Given the description of an element on the screen output the (x, y) to click on. 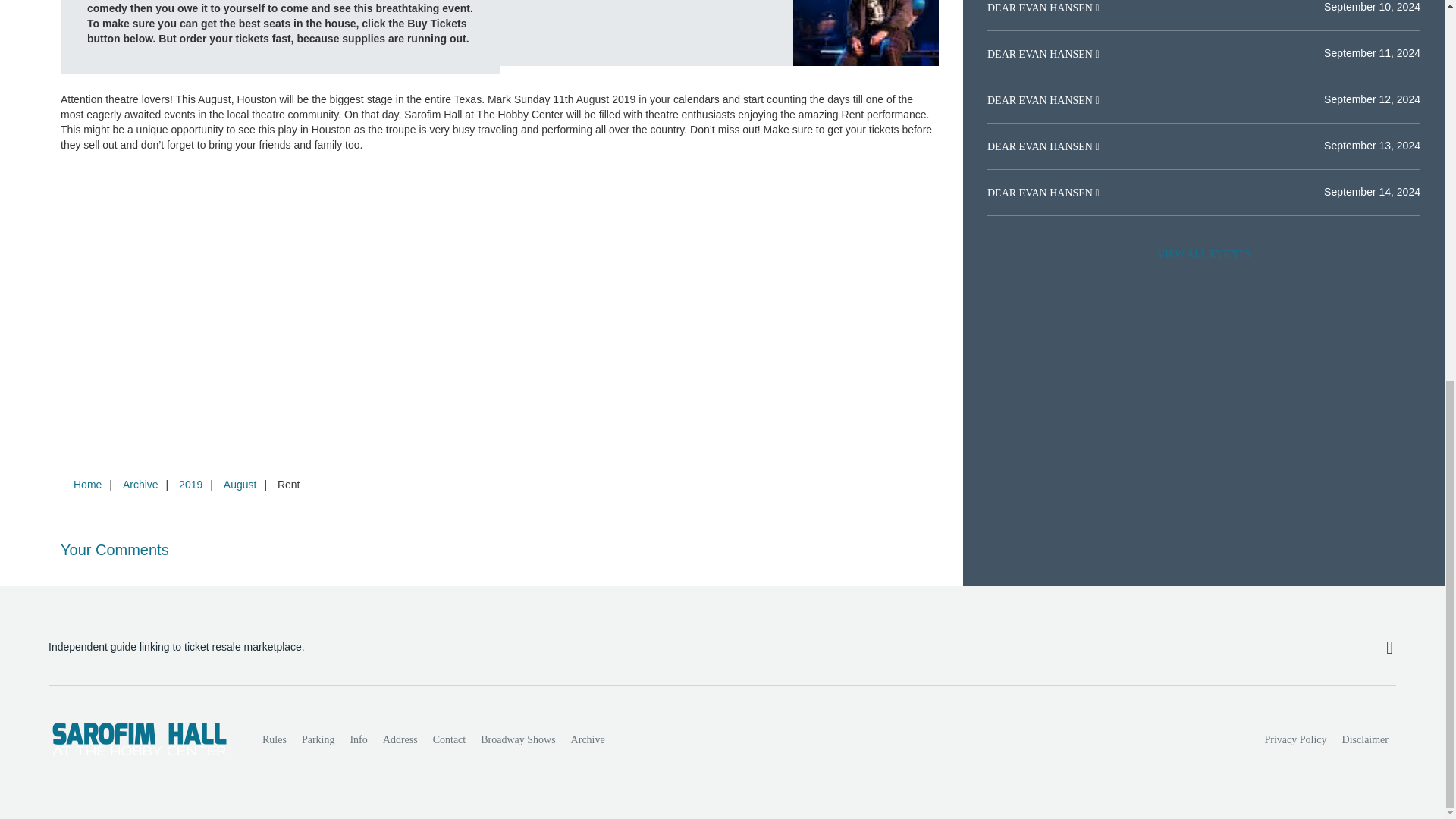
August (239, 484)
Broadway Shows (517, 739)
2019 (190, 484)
DEAR EVAN HANSEN (1040, 53)
Contact (449, 739)
Privacy Policy (1296, 739)
DEAR EVAN HANSEN (1040, 7)
Home (87, 484)
Archive (587, 739)
Info (358, 739)
